Given the description of an element on the screen output the (x, y) to click on. 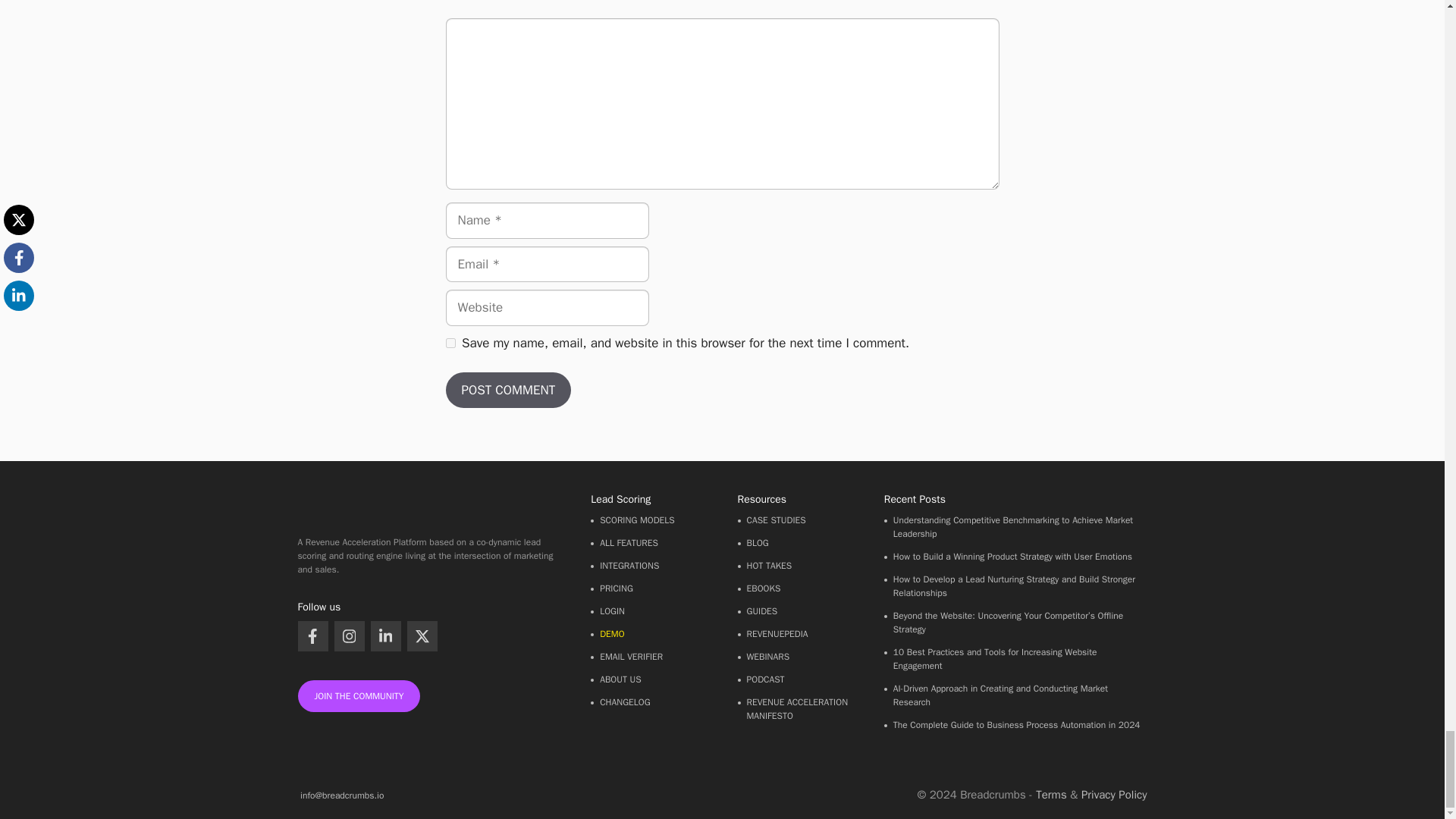
yes (450, 343)
Post Comment (508, 390)
